Given the description of an element on the screen output the (x, y) to click on. 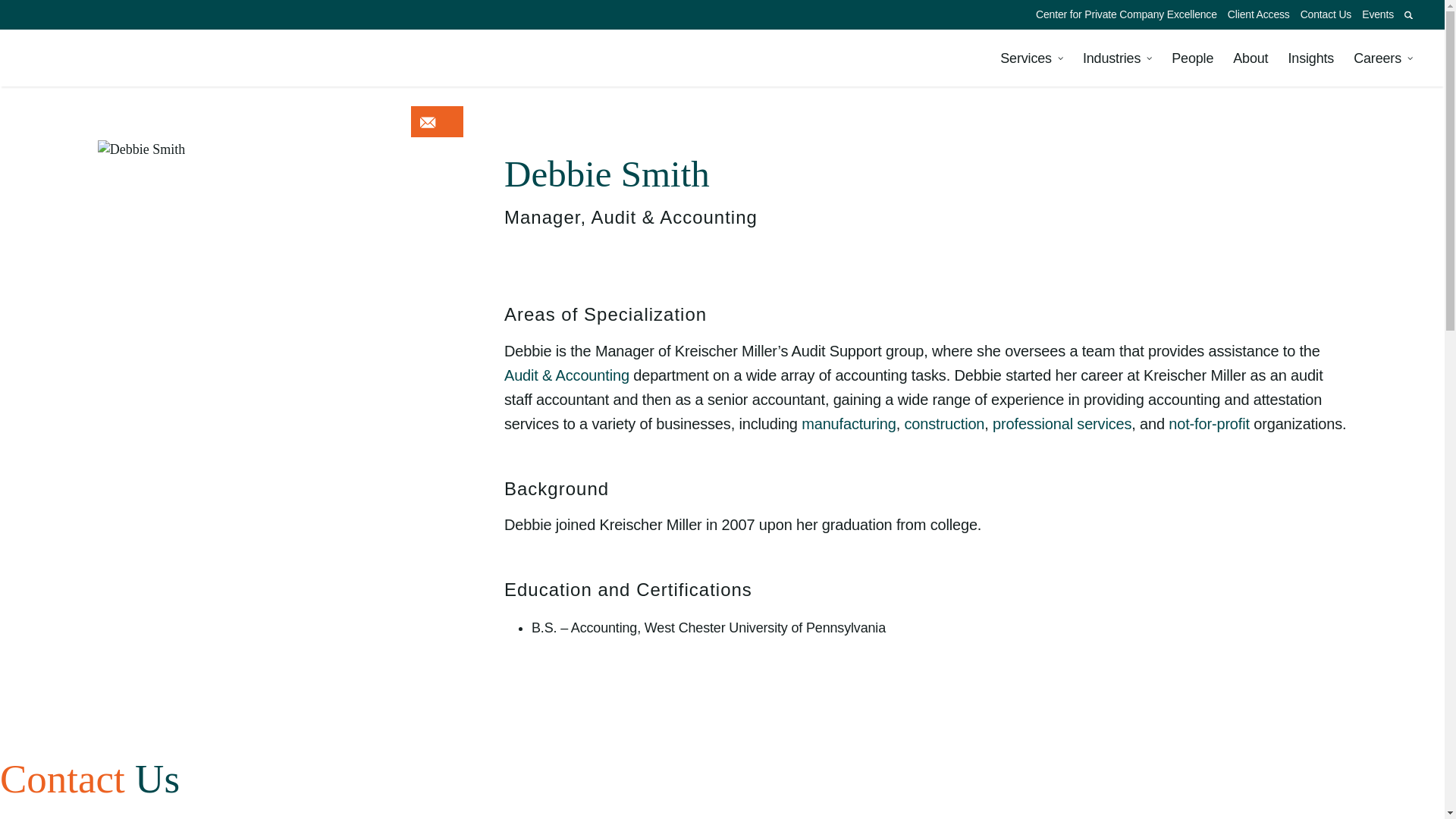
Center for Private Company Excellence (1126, 14)
Services (1031, 58)
Client Access (1259, 14)
Email (427, 122)
Events (1377, 14)
Contact Us (1326, 14)
Industries (1117, 58)
